Given the description of an element on the screen output the (x, y) to click on. 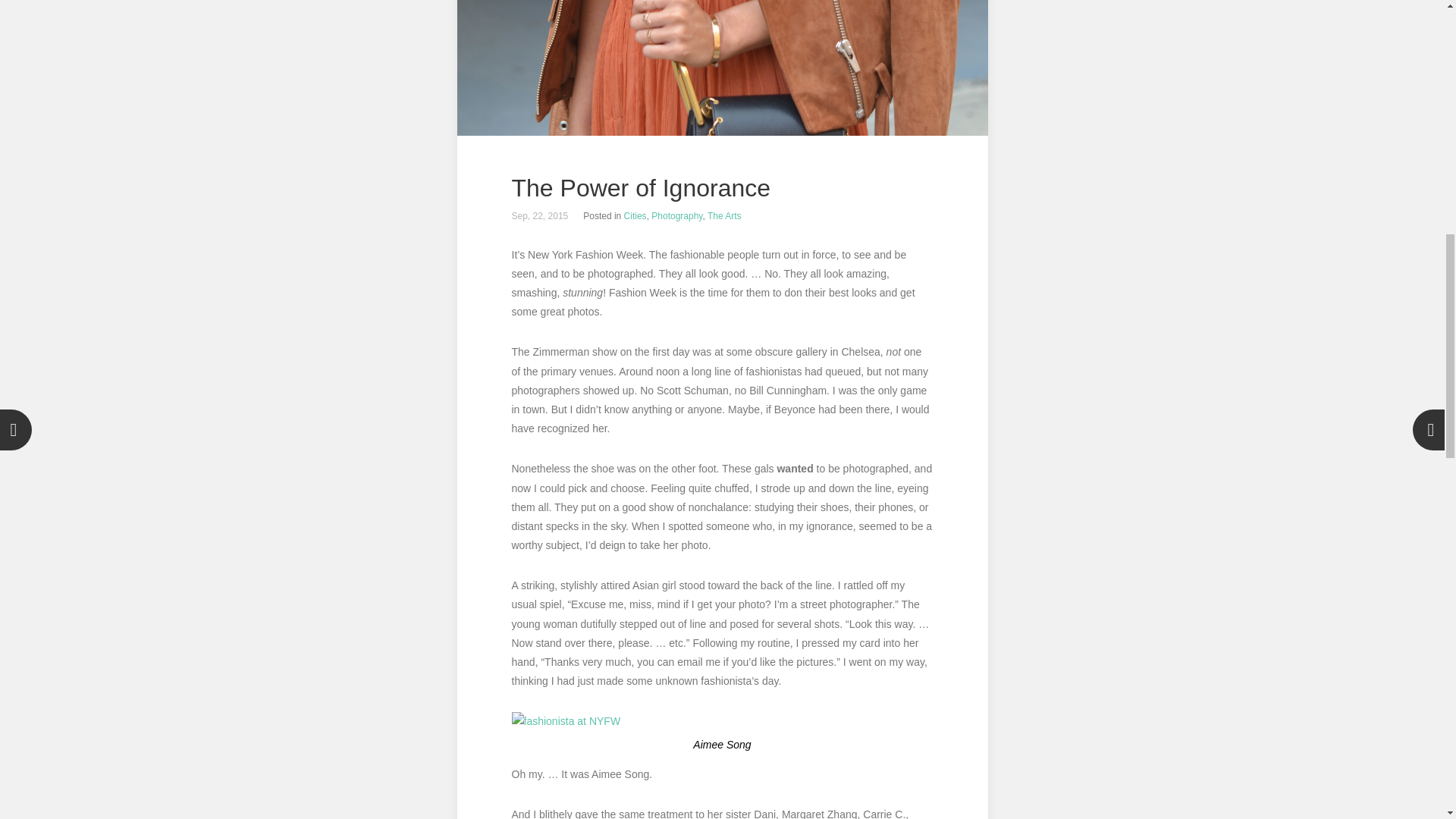
Cities (635, 215)
The Arts (724, 215)
Photography (675, 215)
